Given the description of an element on the screen output the (x, y) to click on. 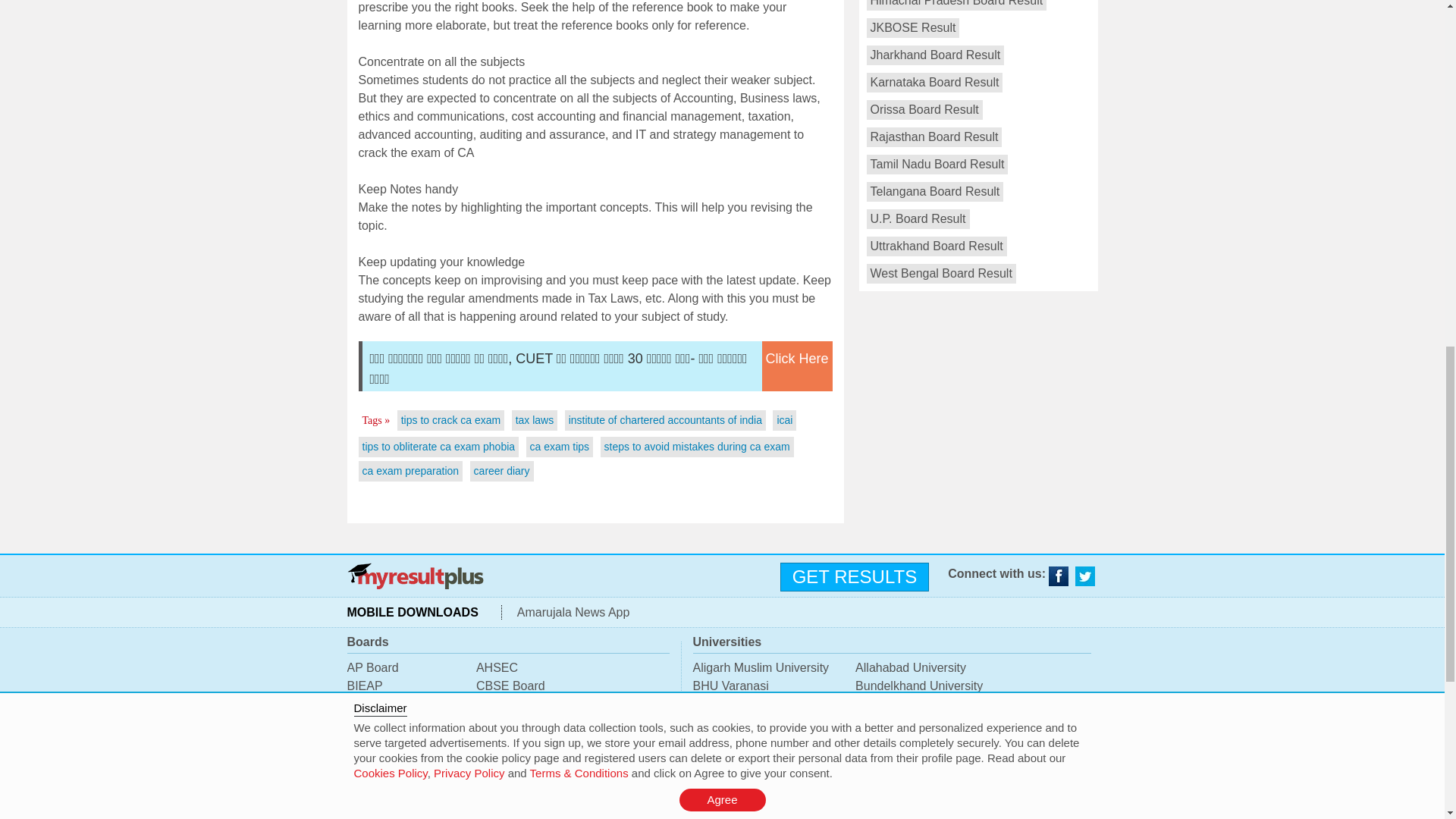
steps to avoid mistakes during ca exam (697, 446)
tax laws (534, 419)
institute of chartered accountants of india (665, 419)
ca exam tips (559, 446)
icai (784, 419)
tips to crack ca exam (450, 419)
tips to obliterate ca exam phobia (438, 446)
